Given the description of an element on the screen output the (x, y) to click on. 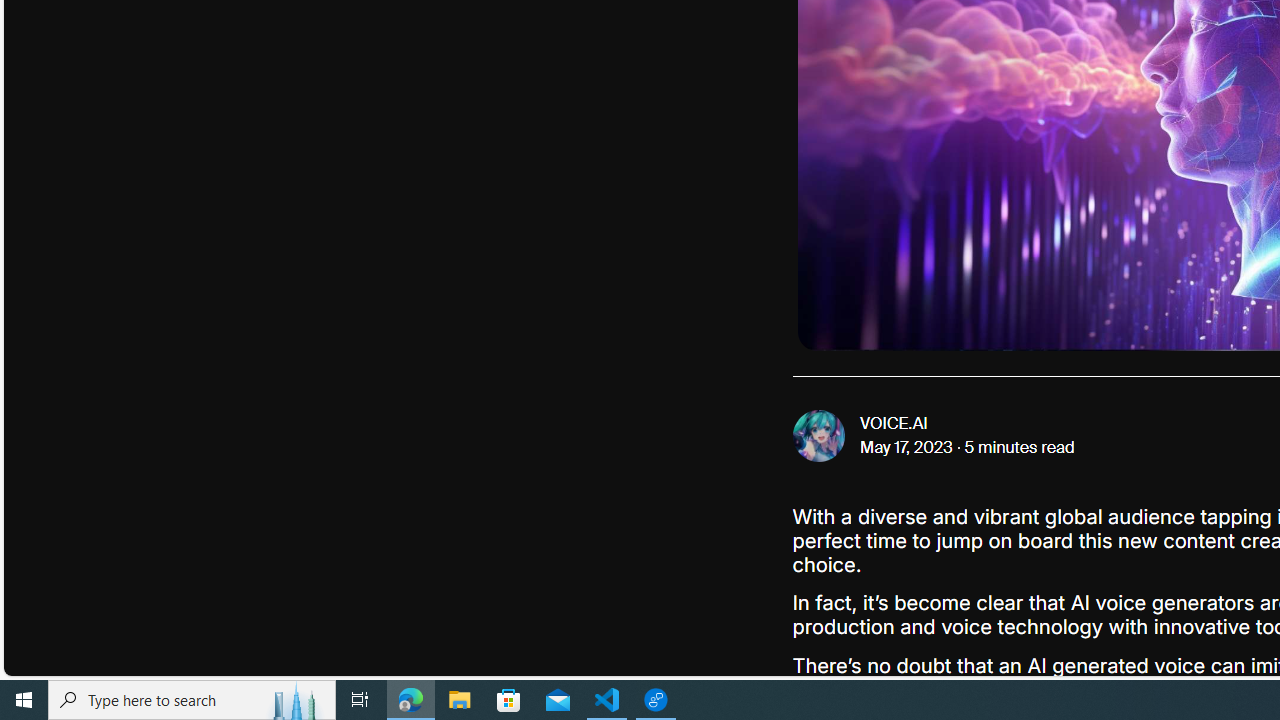
May 17, 2023 (907, 448)
VOICE.AI (894, 423)
5 minutes read (1019, 448)
